Given the description of an element on the screen output the (x, y) to click on. 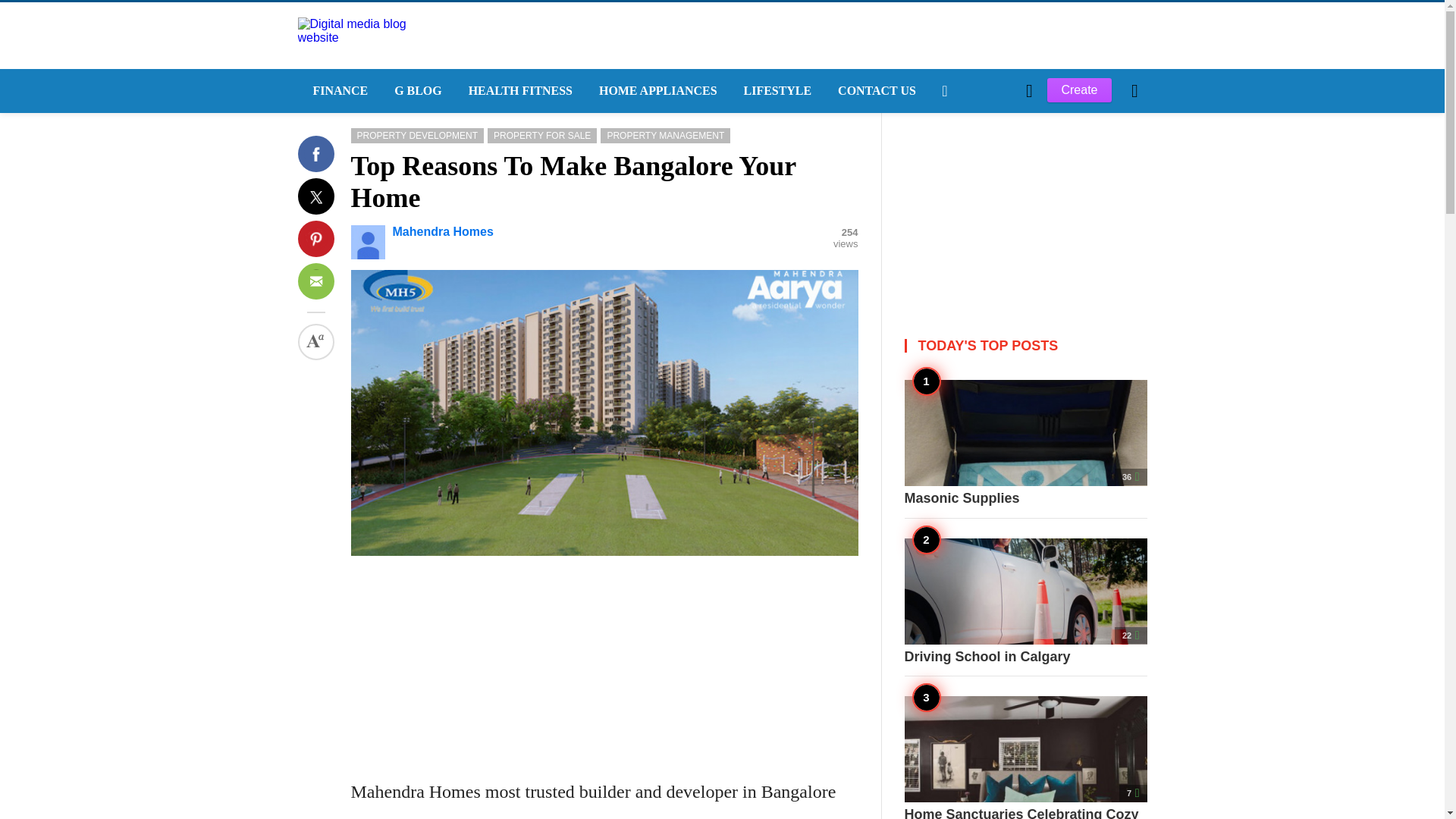
FINANCE (337, 90)
Advertisement (603, 662)
sign up (964, 347)
LIFESTYLE (776, 90)
Driving School in Calgary (1025, 601)
Advertisement (1025, 207)
Masonic Supplies (1025, 443)
HOME APPLIANCES (656, 90)
HEALTH FITNESS (517, 90)
G BLOG (415, 90)
Log in (962, 347)
CONTACT US (874, 90)
